Given the description of an element on the screen output the (x, y) to click on. 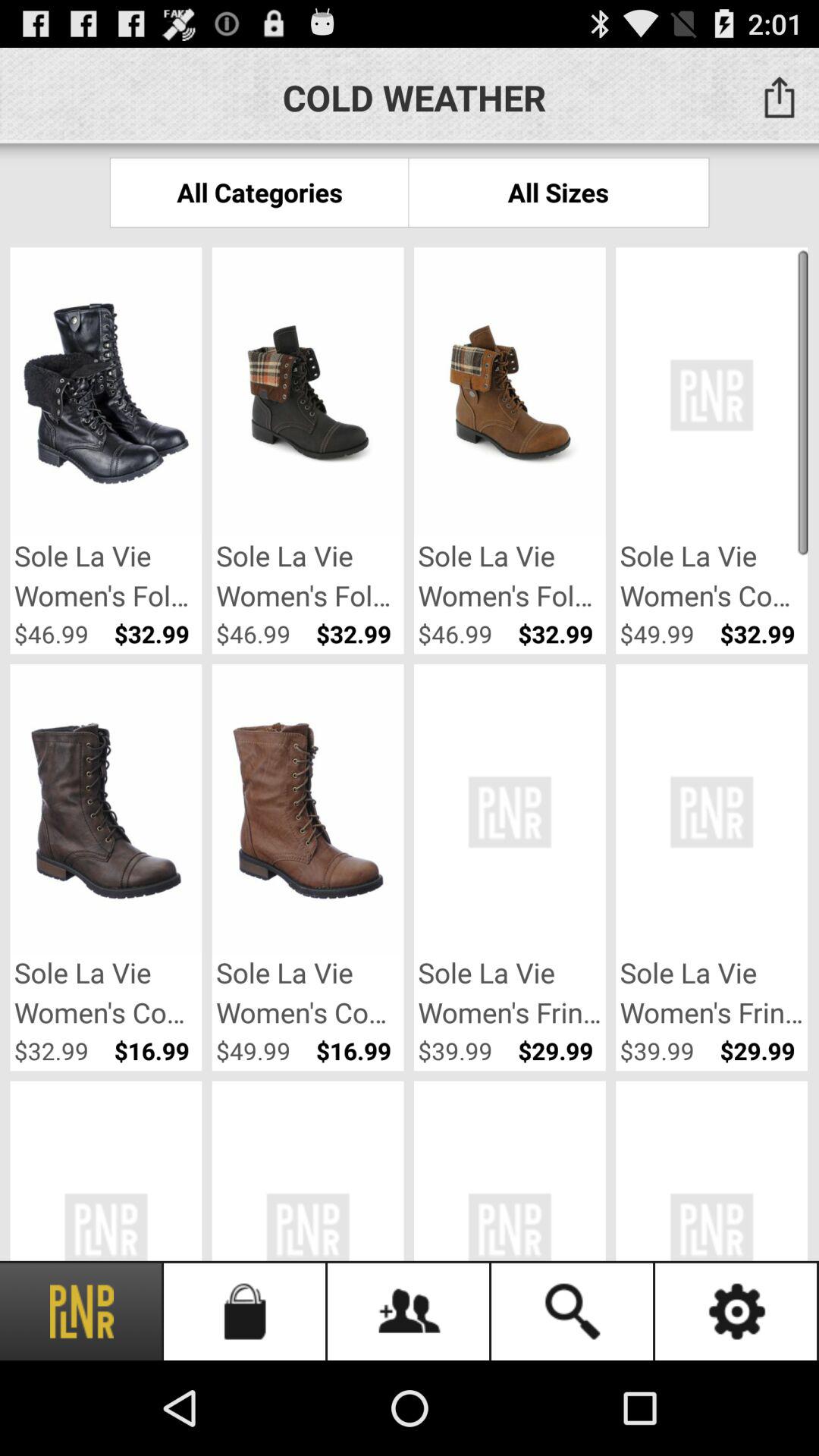
launch the item below the cold weather icon (558, 192)
